Given the description of an element on the screen output the (x, y) to click on. 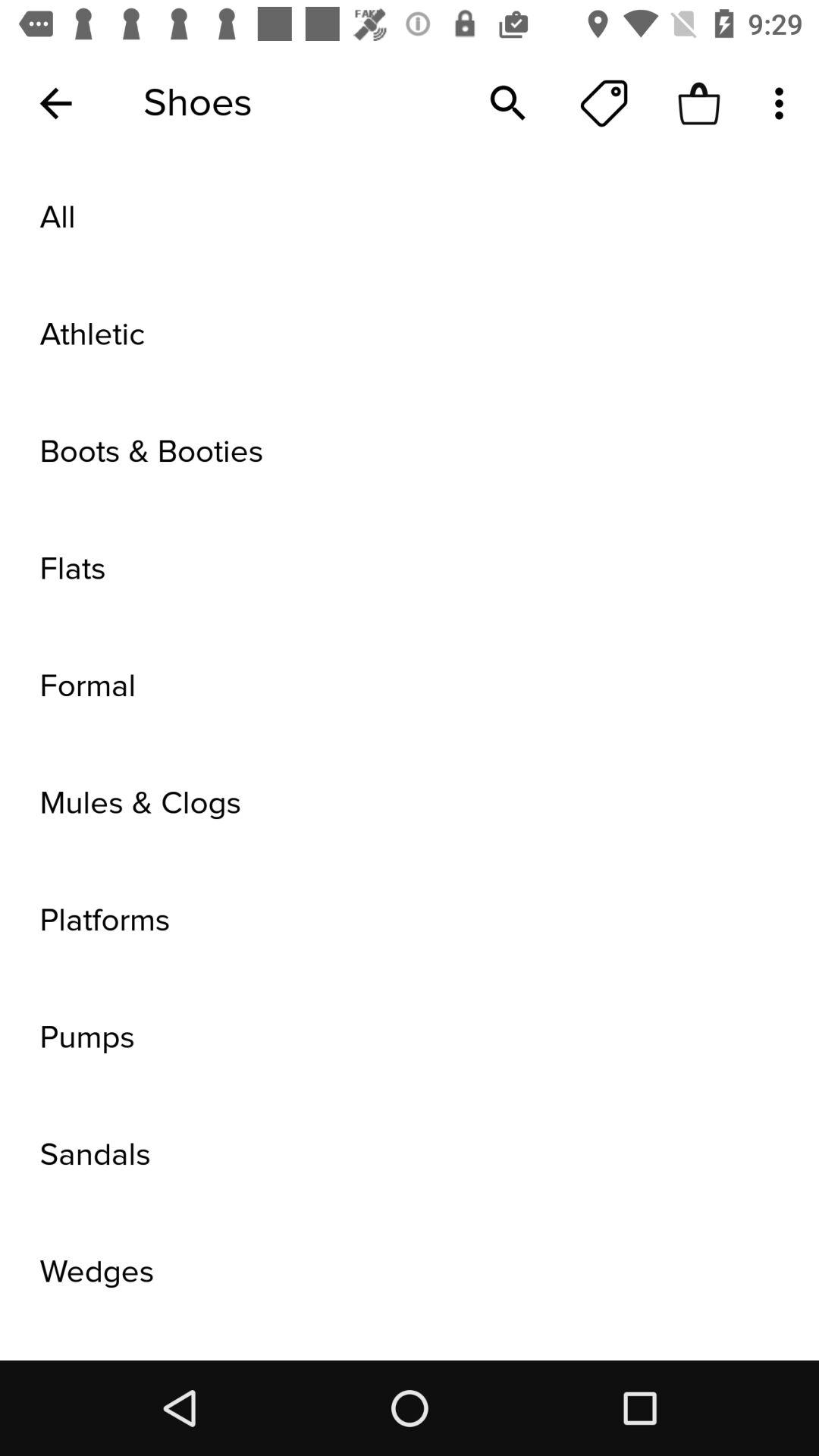
select the icon next to the shoes icon (55, 103)
